Given the description of an element on the screen output the (x, y) to click on. 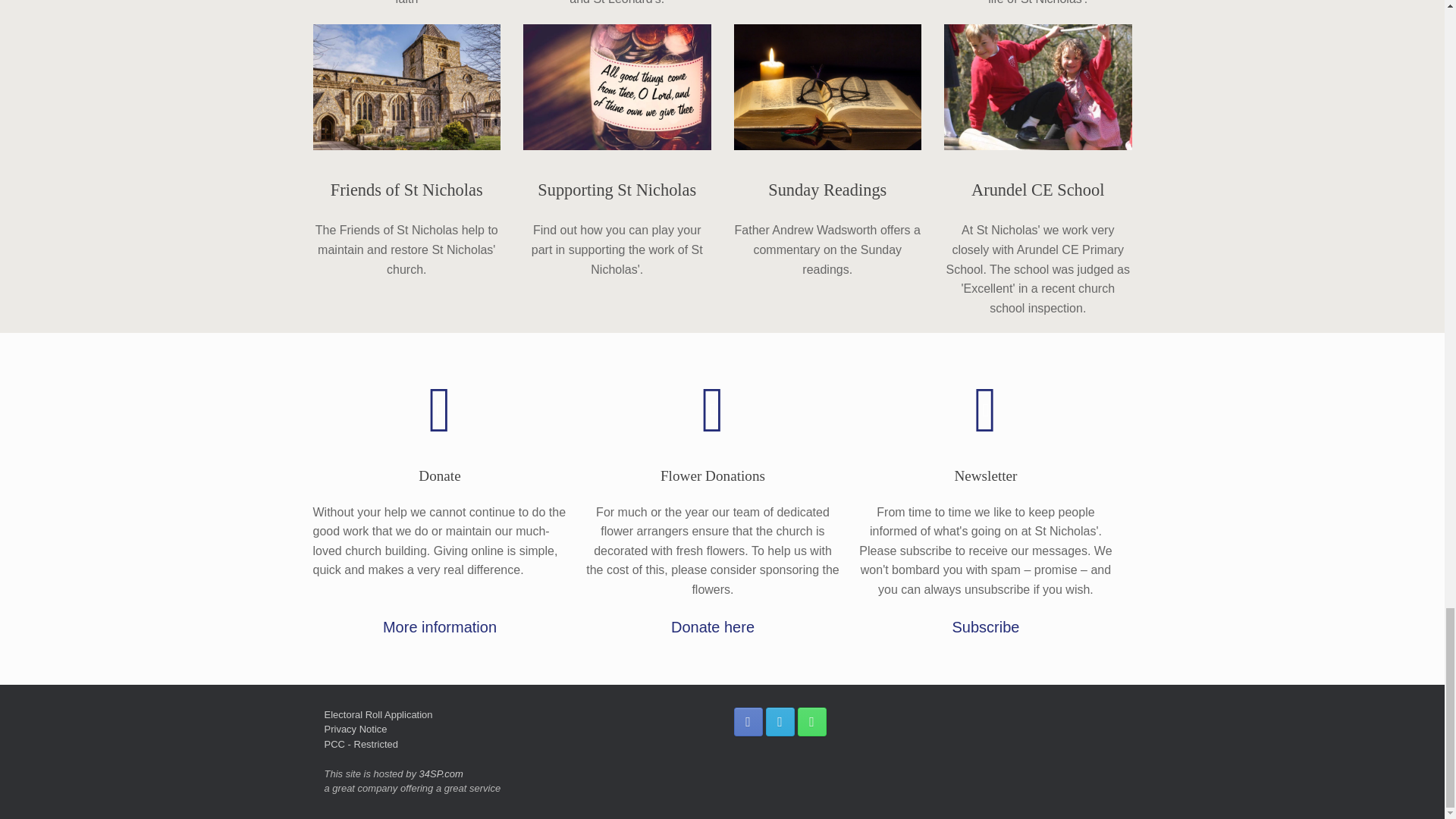
St Nicholas Arundel Facebook (747, 720)
Flowers (712, 410)
Donate (439, 410)
Giving (616, 86)
Subscribe (985, 410)
St Nicholas Arundel Phone (812, 720)
St Nicholas Arundel E-mail (779, 720)
ACE QL2 (1037, 86)
